Given the description of an element on the screen output the (x, y) to click on. 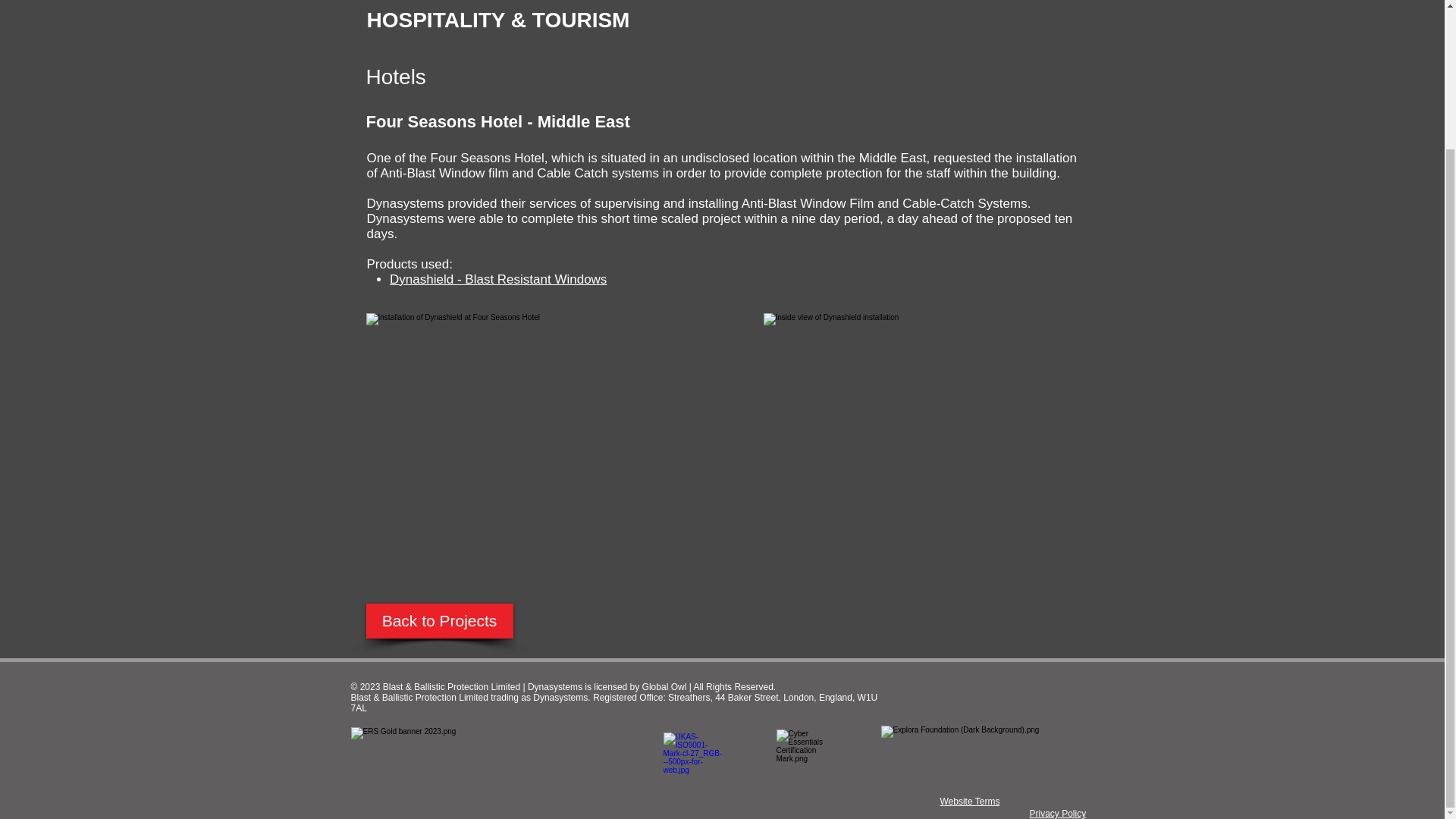
Inside view of Dynashield installation  (920, 421)
Back to Projects (438, 620)
Dynashield - Blast Resistant Windows (498, 278)
Website Terms (970, 801)
Installation of Dynashield at Four Seasons Hotel  (539, 421)
